Given the description of an element on the screen output the (x, y) to click on. 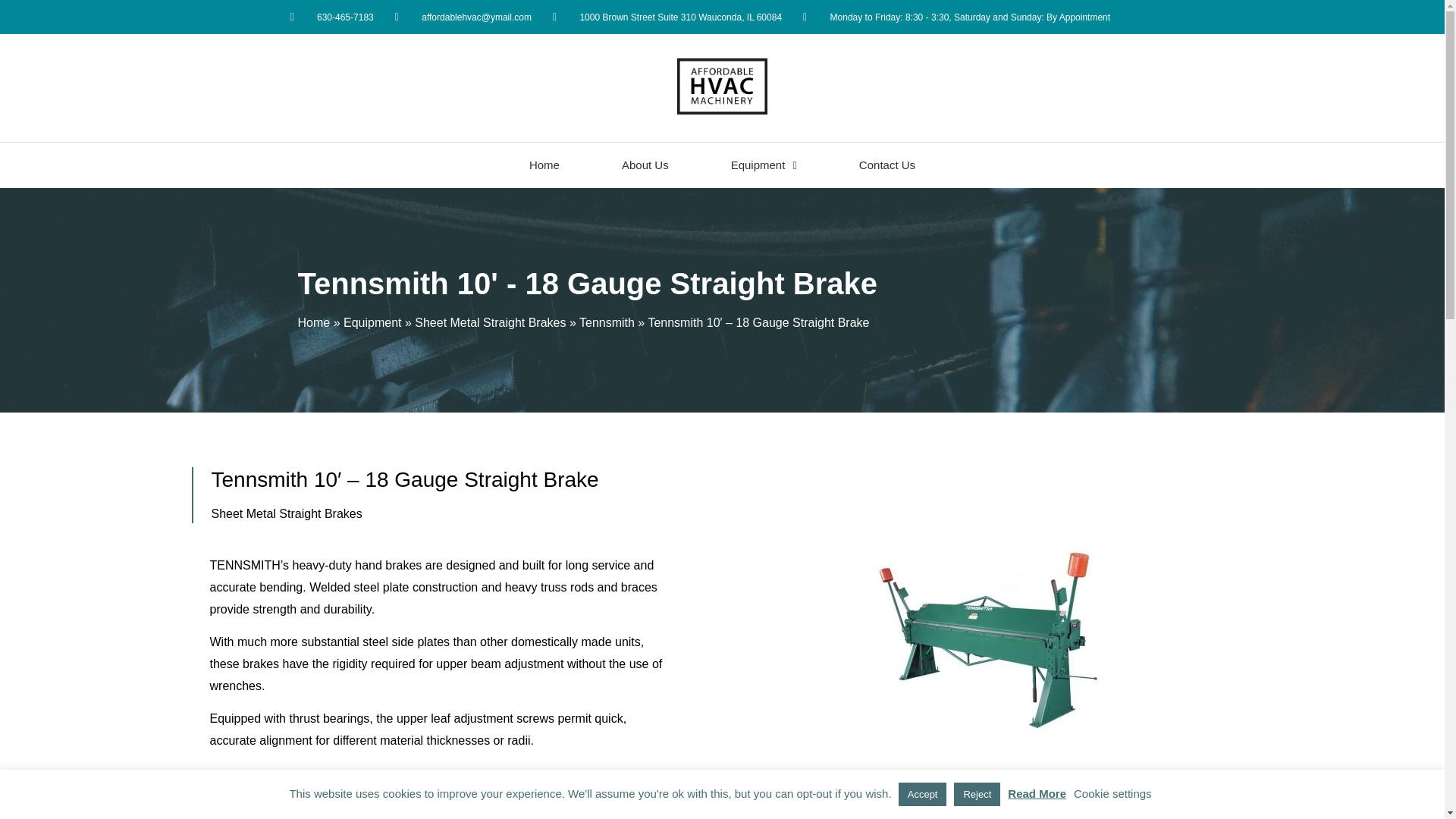
Home (544, 165)
About Us (645, 165)
630-465-7183 (330, 17)
Equipment (764, 165)
Contact Us (887, 165)
